Given the description of an element on the screen output the (x, y) to click on. 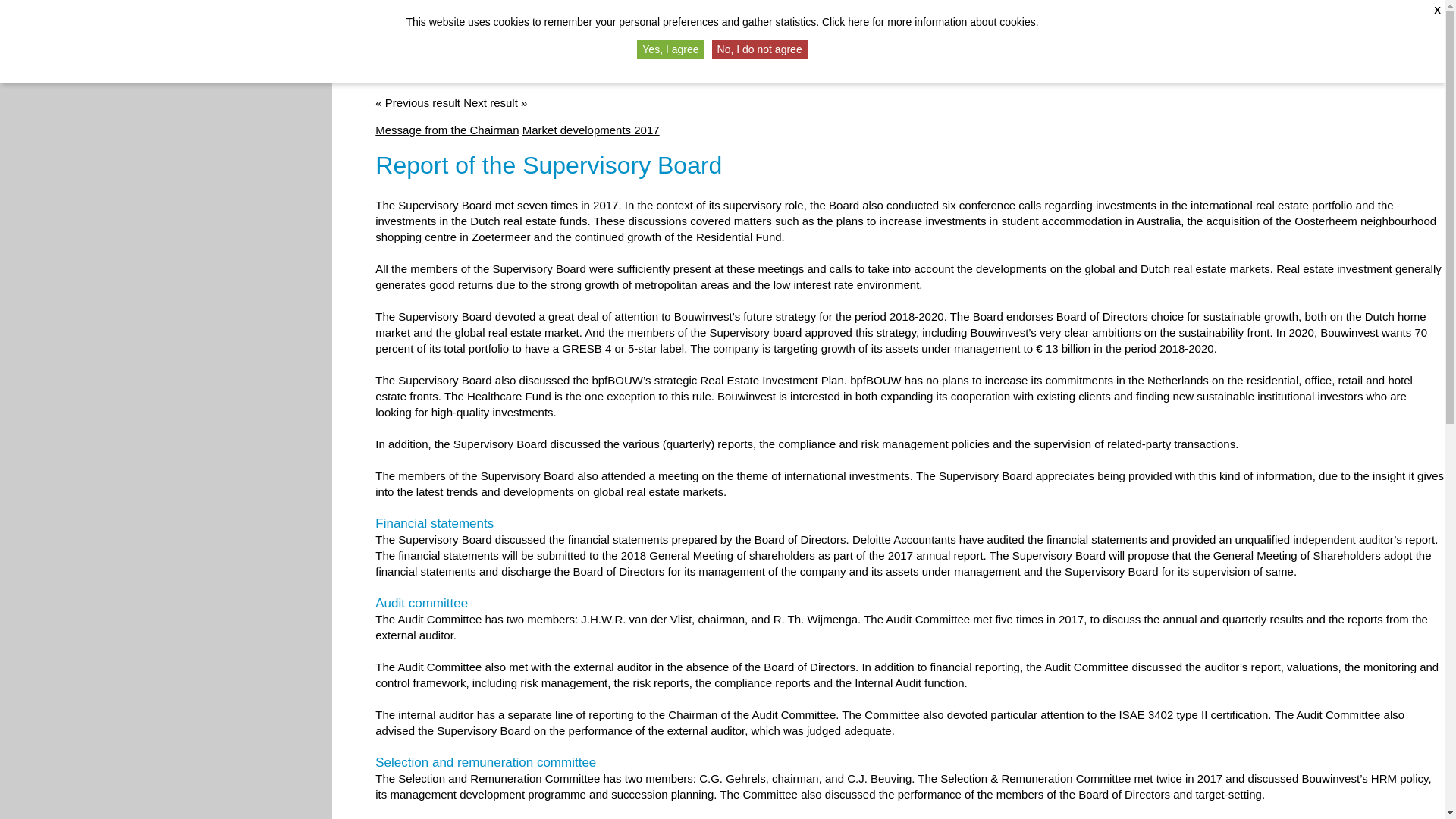
Yes, I agree (670, 49)
Corporate website (1324, 27)
Message from the Chairman (417, 102)
Market developments 2017 (590, 129)
Message from the Chairman (446, 129)
zoek (1392, 30)
Home (1253, 27)
X (1437, 10)
Click here (845, 21)
Message from the Chairman (446, 129)
Corporate website (1324, 27)
Home (1253, 27)
No, I do not agree (759, 49)
